Given the description of an element on the screen output the (x, y) to click on. 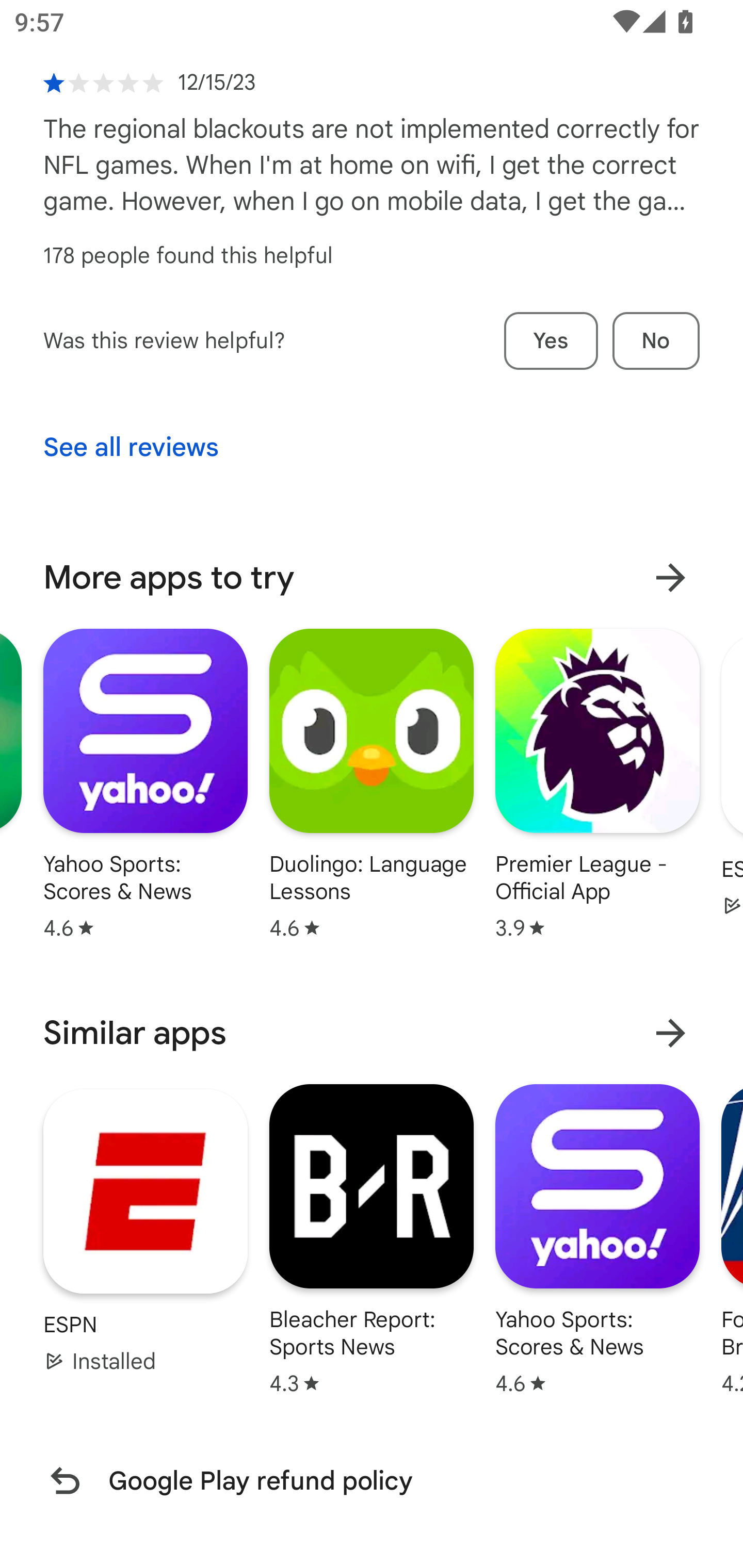
Yes (550, 340)
No (655, 340)
See all reviews (130, 447)
More apps to try More results for More apps to try (371, 577)
More results for More apps to try (670, 577)
Yahoo Sports: Scores & News
Star rating: 4.6
 (145, 783)
Duolingo: Language Lessons
Star rating: 4.6
 (371, 783)
Premier League - Official App
Star rating: 3.9
 (597, 783)
Similar apps More results for Similar apps (371, 1033)
More results for Similar apps (670, 1033)
ESPN
Installed
 (145, 1230)
Bleacher Report: Sports News
Star rating: 4.3
 (371, 1238)
Yahoo Sports: Scores & News
Star rating: 4.6
 (597, 1238)
Google Play refund policy (371, 1480)
